Given the description of an element on the screen output the (x, y) to click on. 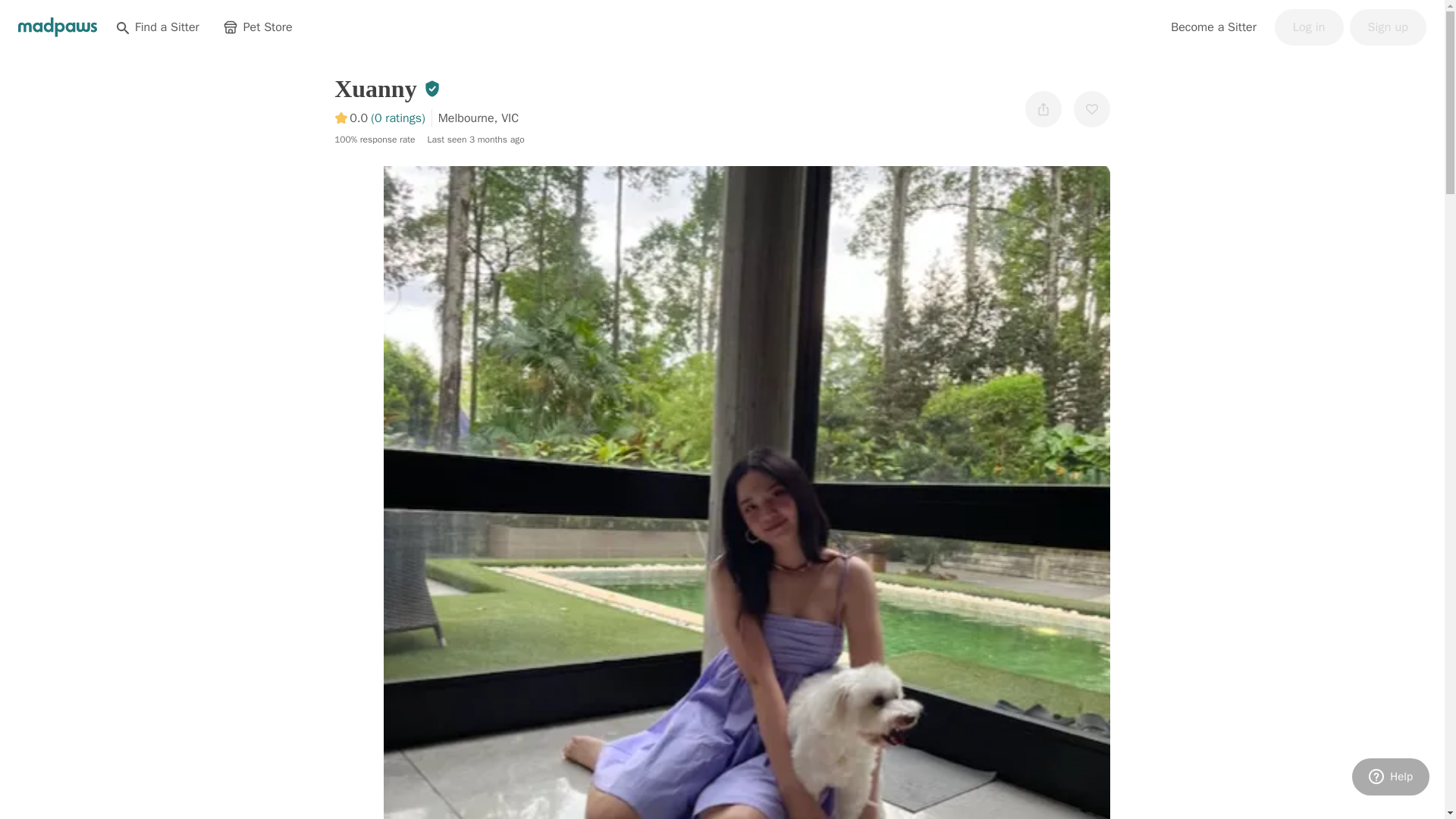
Sign up (1387, 27)
Find a Sitter (157, 27)
Pet Store (257, 27)
Become a Sitter (1213, 27)
Log in (1309, 27)
Help (1390, 776)
